Given the description of an element on the screen output the (x, y) to click on. 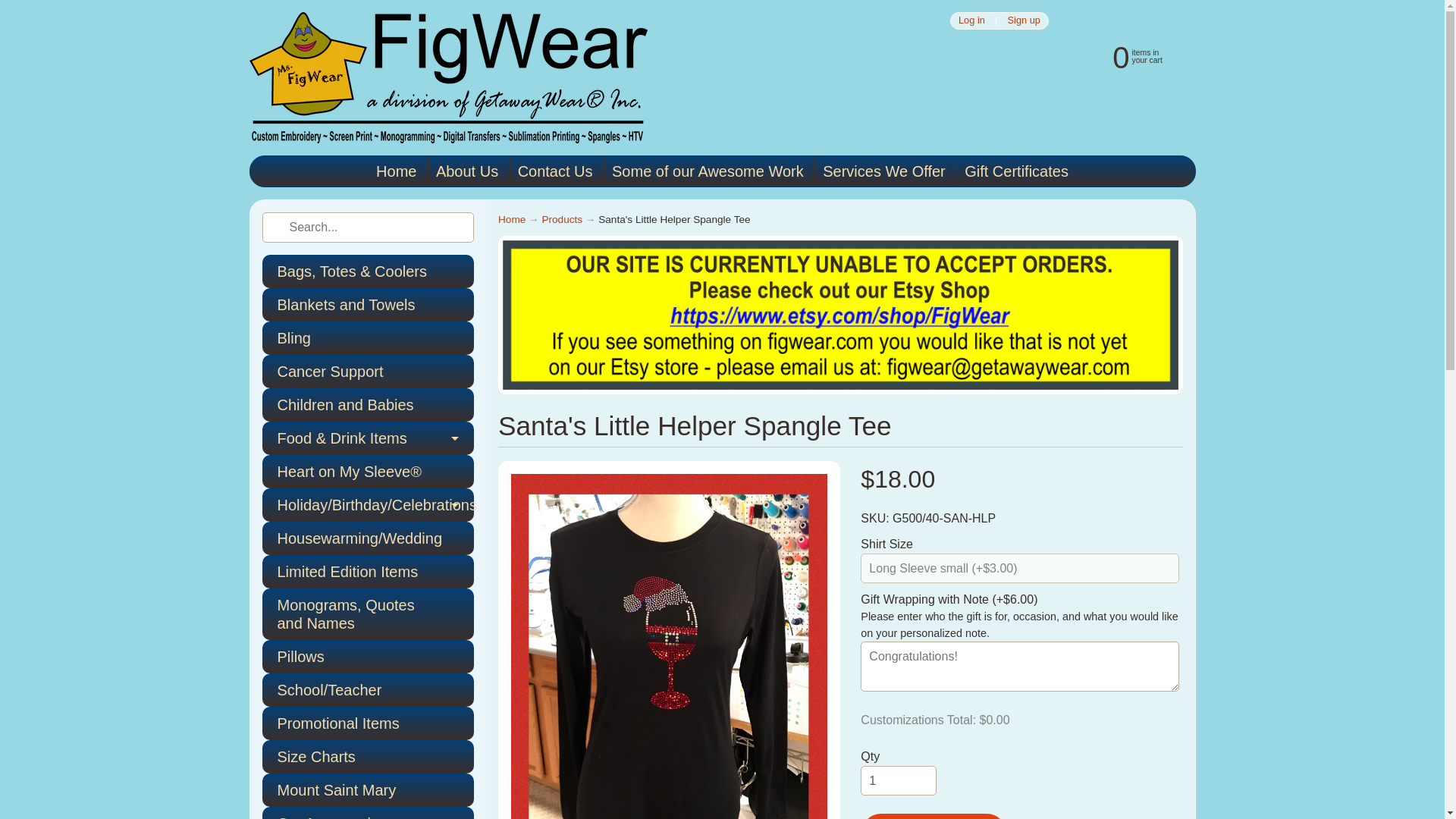
Children and Babies (368, 404)
Gift Certificates (1015, 171)
Some of our Awesome Work (707, 171)
Services We Offer (884, 171)
About Us (466, 171)
Contact Us (555, 171)
Pillows (368, 656)
FigWear (447, 77)
1 (898, 780)
Back to the home page (511, 219)
Cancer Support (368, 371)
Bling (368, 337)
Blankets and Towels (368, 304)
Home (395, 171)
